Given the description of an element on the screen output the (x, y) to click on. 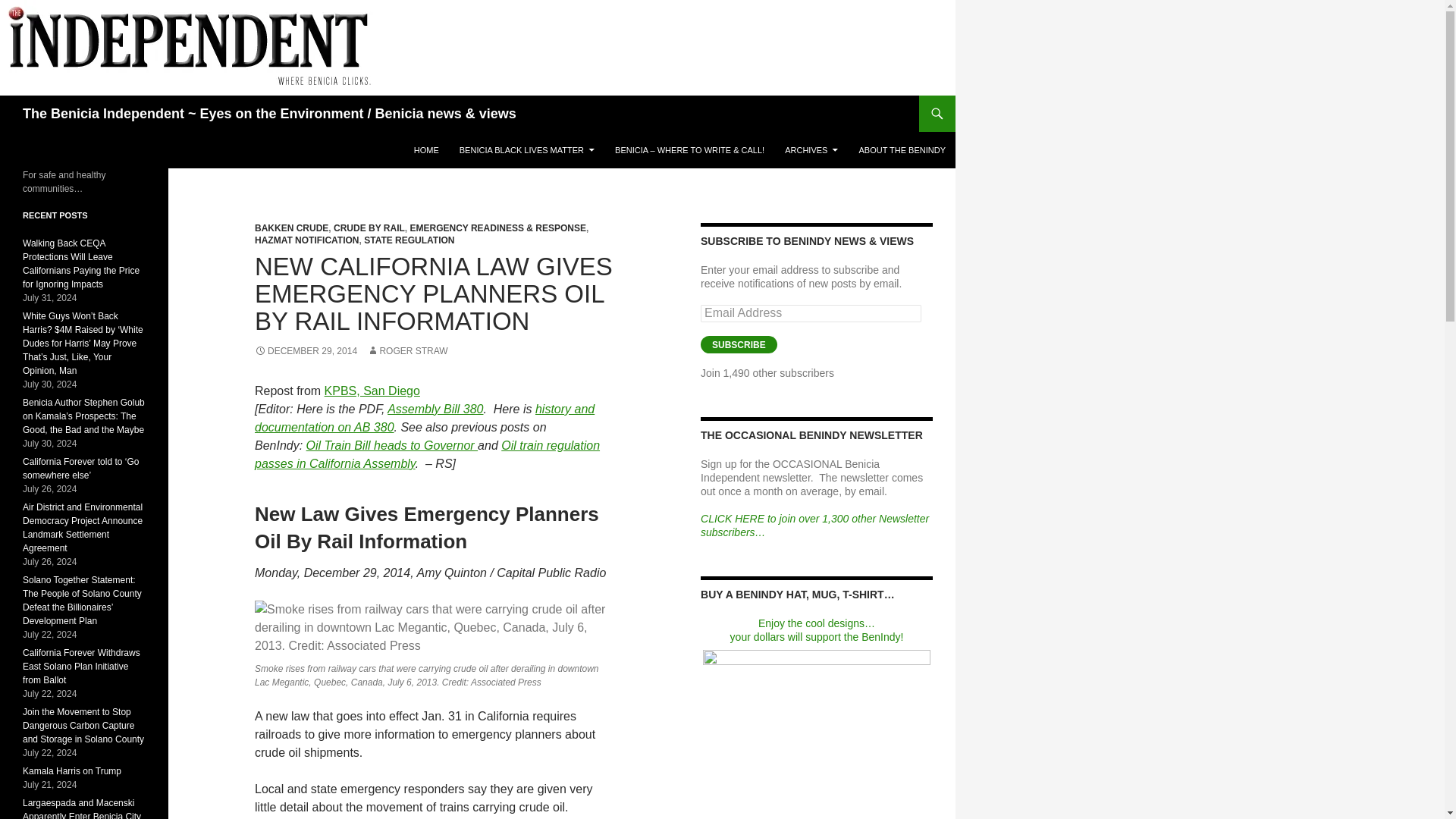
HOME (426, 149)
ARCHIVES (811, 149)
BENICIA BLACK LIVES MATTER (526, 149)
